Given the description of an element on the screen output the (x, y) to click on. 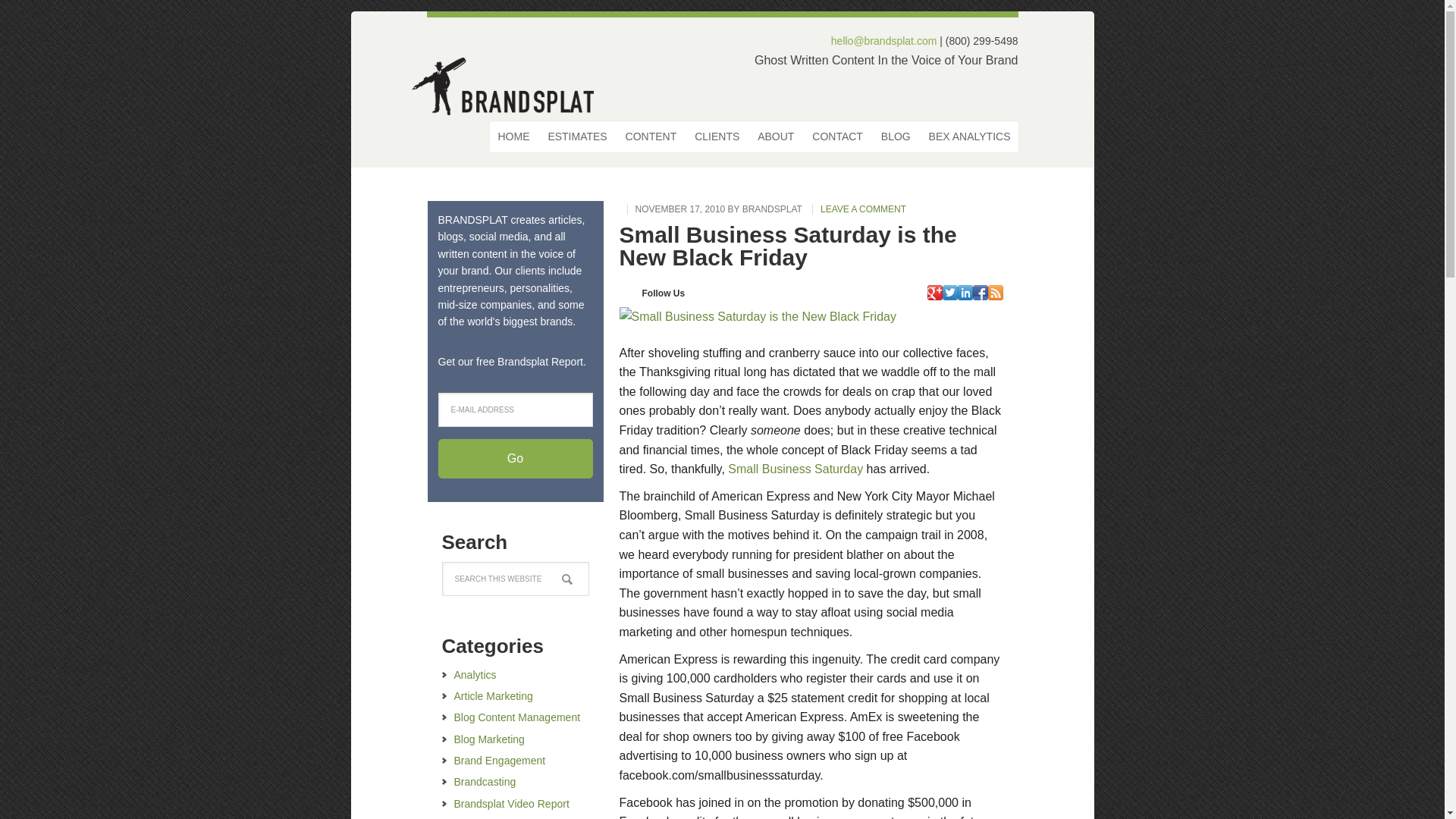
Go (515, 458)
Analytics (474, 674)
Small Business Saturday (795, 468)
Blog Content Management (515, 717)
Article Marketing (492, 695)
HOME (513, 136)
BRANDSPLAT (772, 208)
Brandsplat (509, 83)
Blog Marketing (488, 739)
ABOUT (775, 136)
Go (515, 458)
Brandcasting (483, 781)
buymore (756, 316)
